Given the description of an element on the screen output the (x, y) to click on. 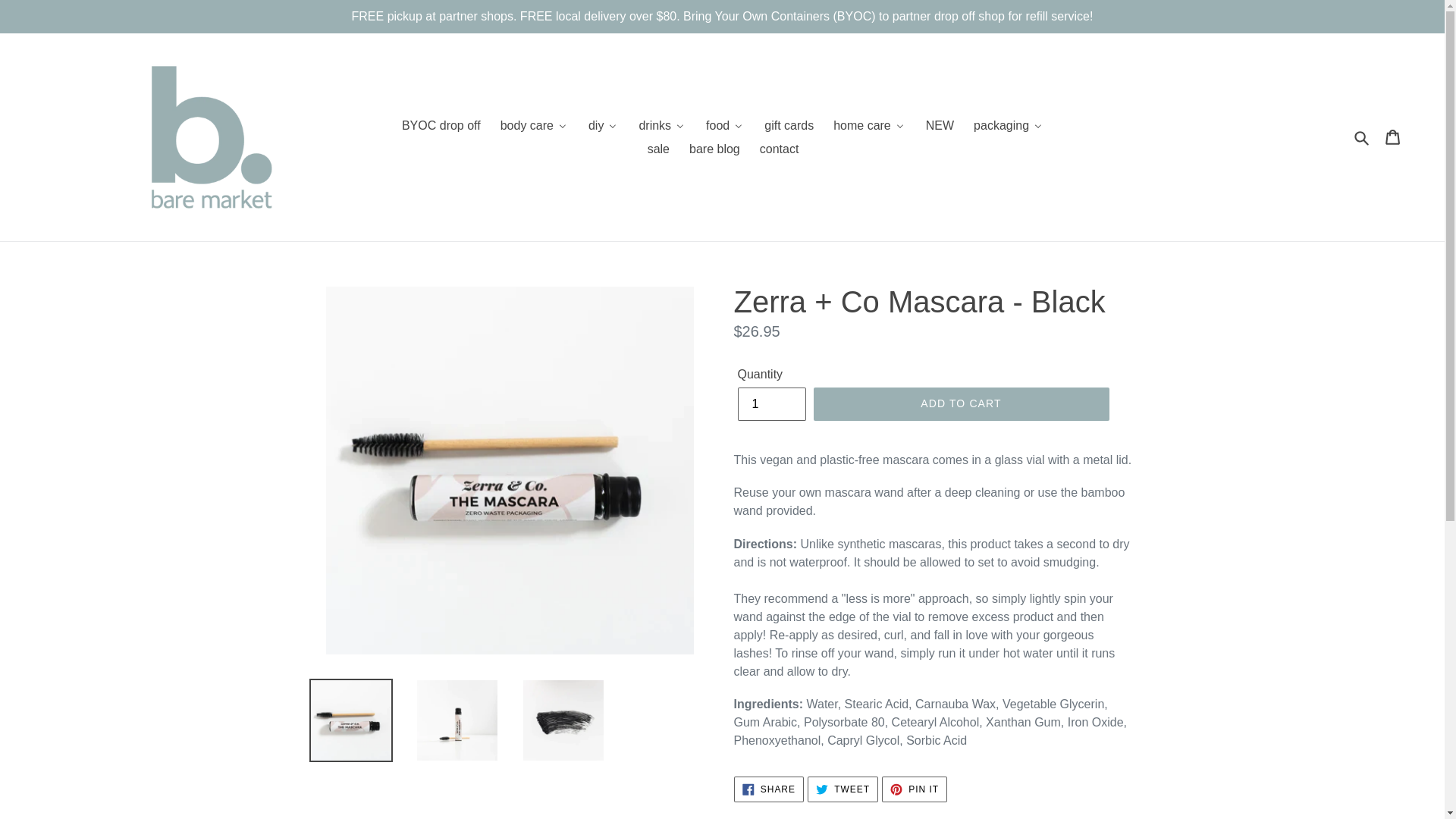
BYOC drop off (440, 125)
1 (770, 403)
body care (533, 125)
